Given the description of an element on the screen output the (x, y) to click on. 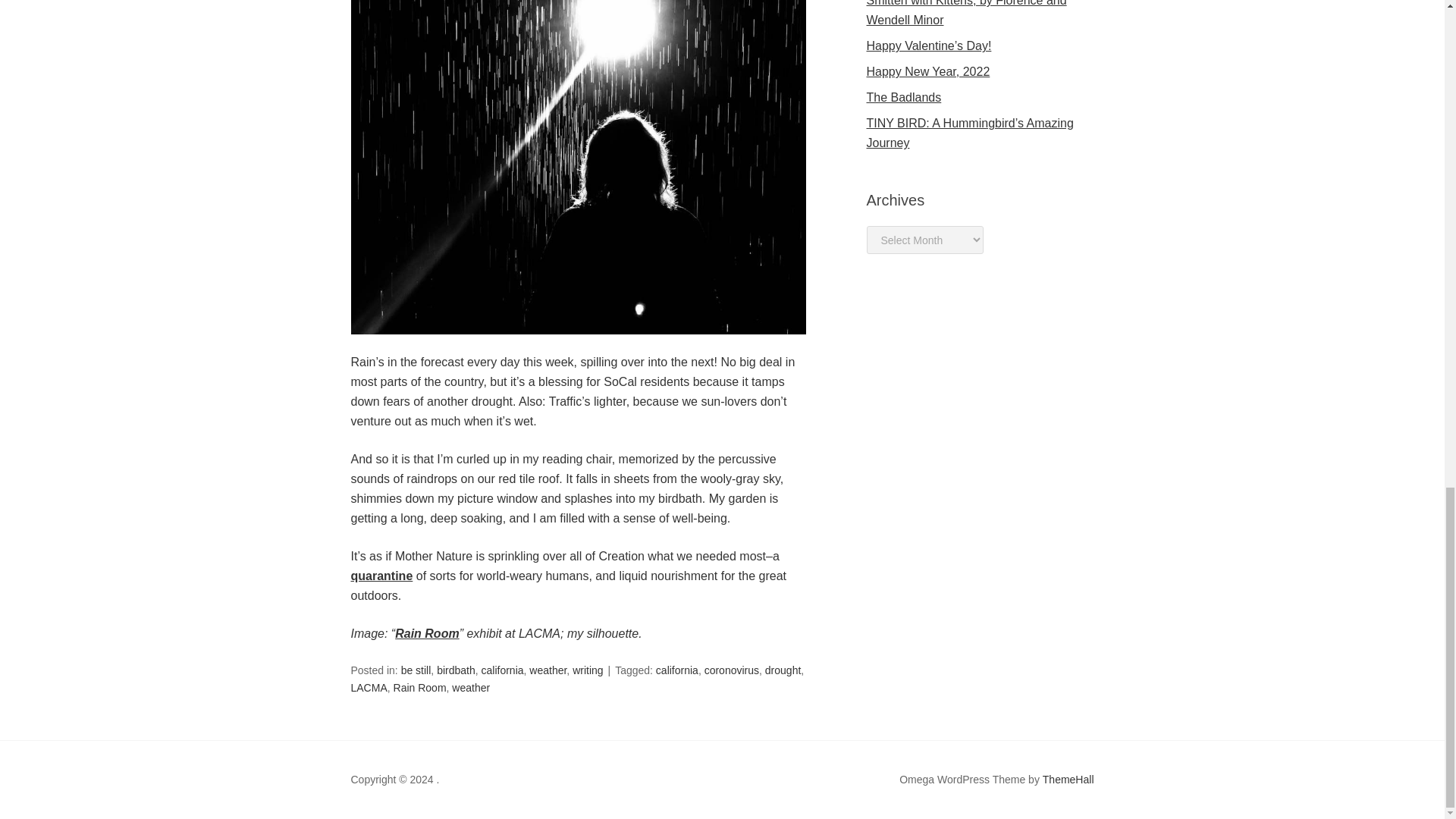
Rain Room (426, 633)
drought (782, 670)
birdbath (456, 670)
be still (415, 670)
ThemeHall (1068, 779)
california (501, 670)
quarantine (381, 575)
weather (547, 670)
writing (587, 670)
california (677, 670)
